Given the description of an element on the screen output the (x, y) to click on. 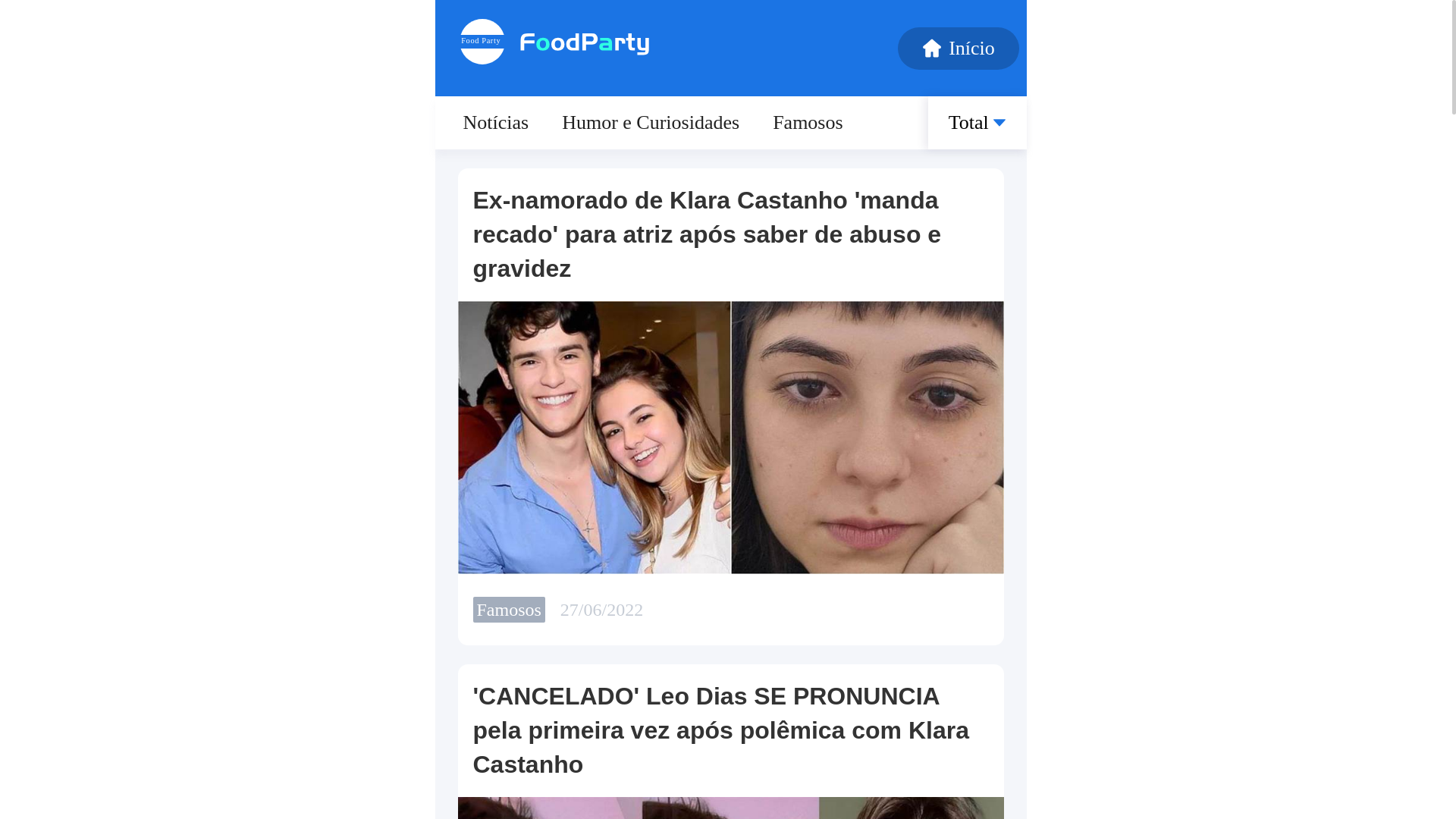
Famosos Element type: text (807, 135)
Humor e Curiosidades Element type: text (650, 135)
